Given the description of an element on the screen output the (x, y) to click on. 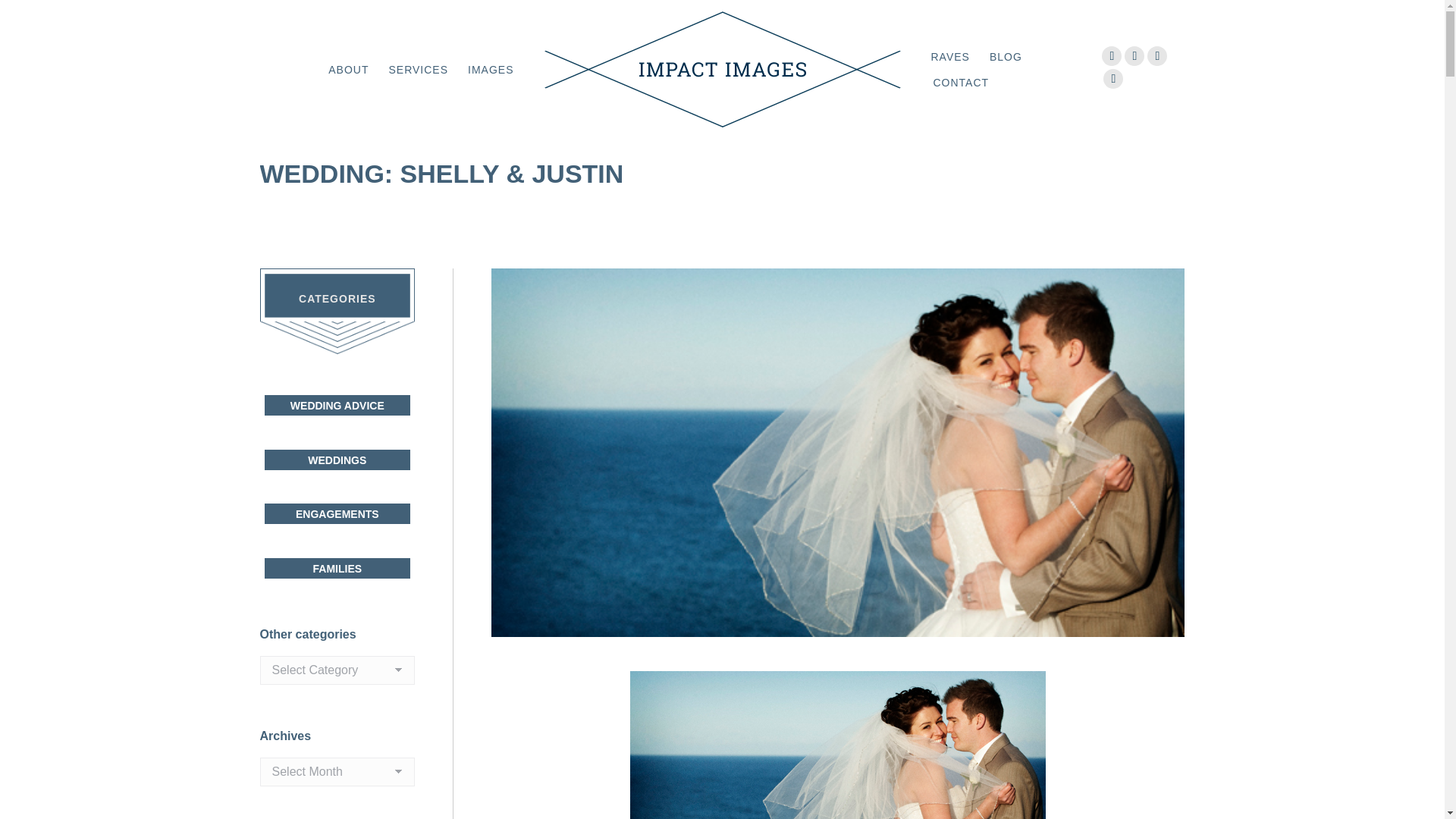
Instagram page opens in new window (1157, 55)
BLOG (1005, 56)
Mail page opens in new window (1112, 78)
SERVICES (417, 69)
Pinterest page opens in new window (1134, 55)
CONTACT (959, 82)
ABOUT (347, 69)
Facebook page opens in new window (1111, 55)
Instagram page opens in new window (1157, 55)
Pinterest page opens in new window (1134, 55)
Facebook page opens in new window (1111, 55)
IMAGES (490, 69)
Mail page opens in new window (1112, 78)
RAVES (949, 56)
